Given the description of an element on the screen output the (x, y) to click on. 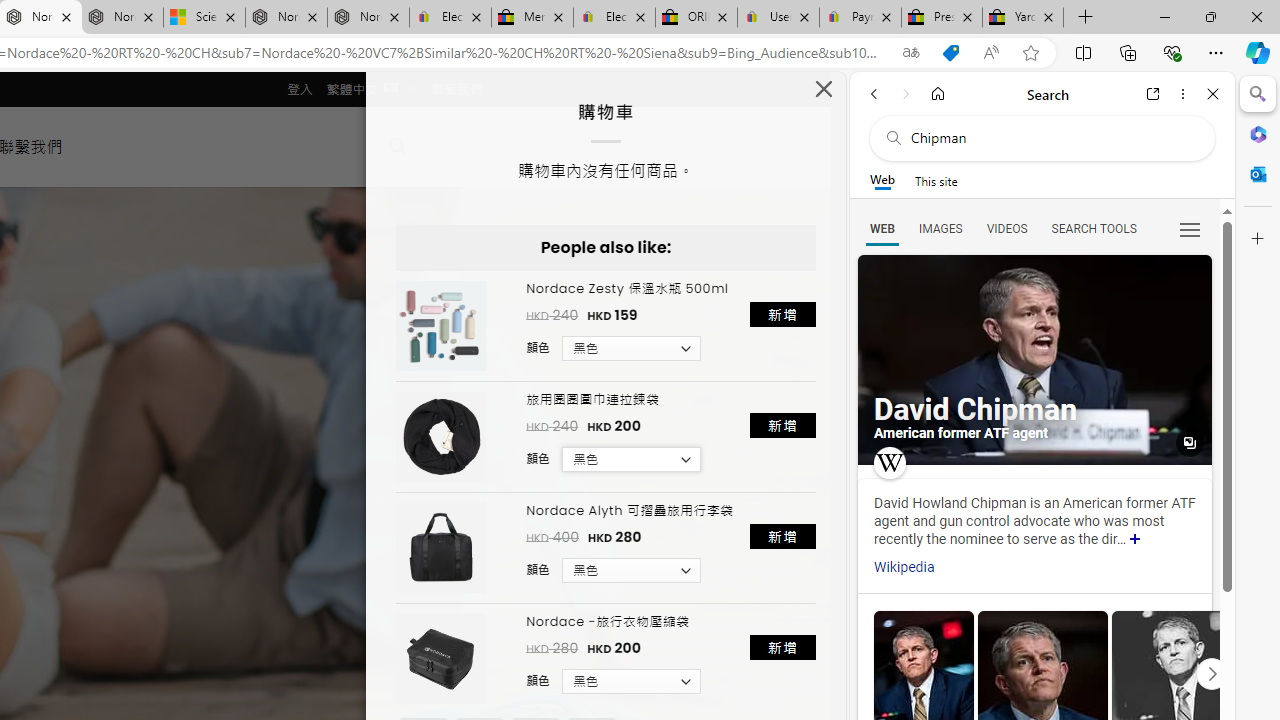
Click to scroll right (1211, 672)
Web scope (882, 180)
Search Filter, VIDEOS (1006, 228)
Close (1213, 93)
Microsoft 365 (1258, 133)
Yard, Garden & Outdoor Living (1023, 17)
Show translate options (910, 53)
Open link in new tab (1153, 93)
Back (874, 93)
Collections (1128, 52)
Nordace - Summer Adventures 2024 (285, 17)
